Given the description of an element on the screen output the (x, y) to click on. 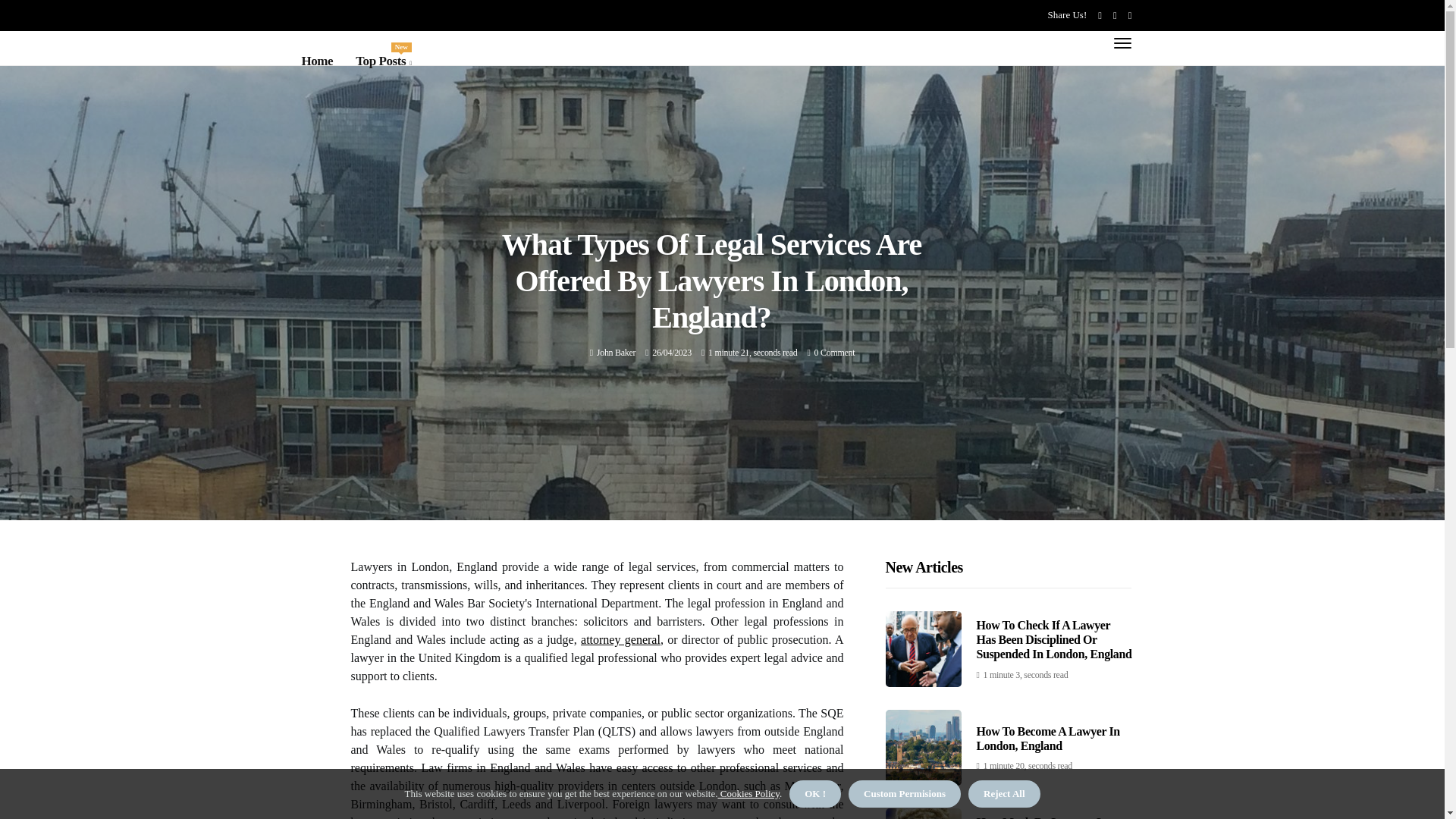
attorney general (620, 639)
0 Comment (834, 352)
Home (317, 61)
John Baker (615, 352)
Posts by John Baker (382, 61)
How To Become A Lawyer In London, England (615, 352)
